Given the description of an element on the screen output the (x, y) to click on. 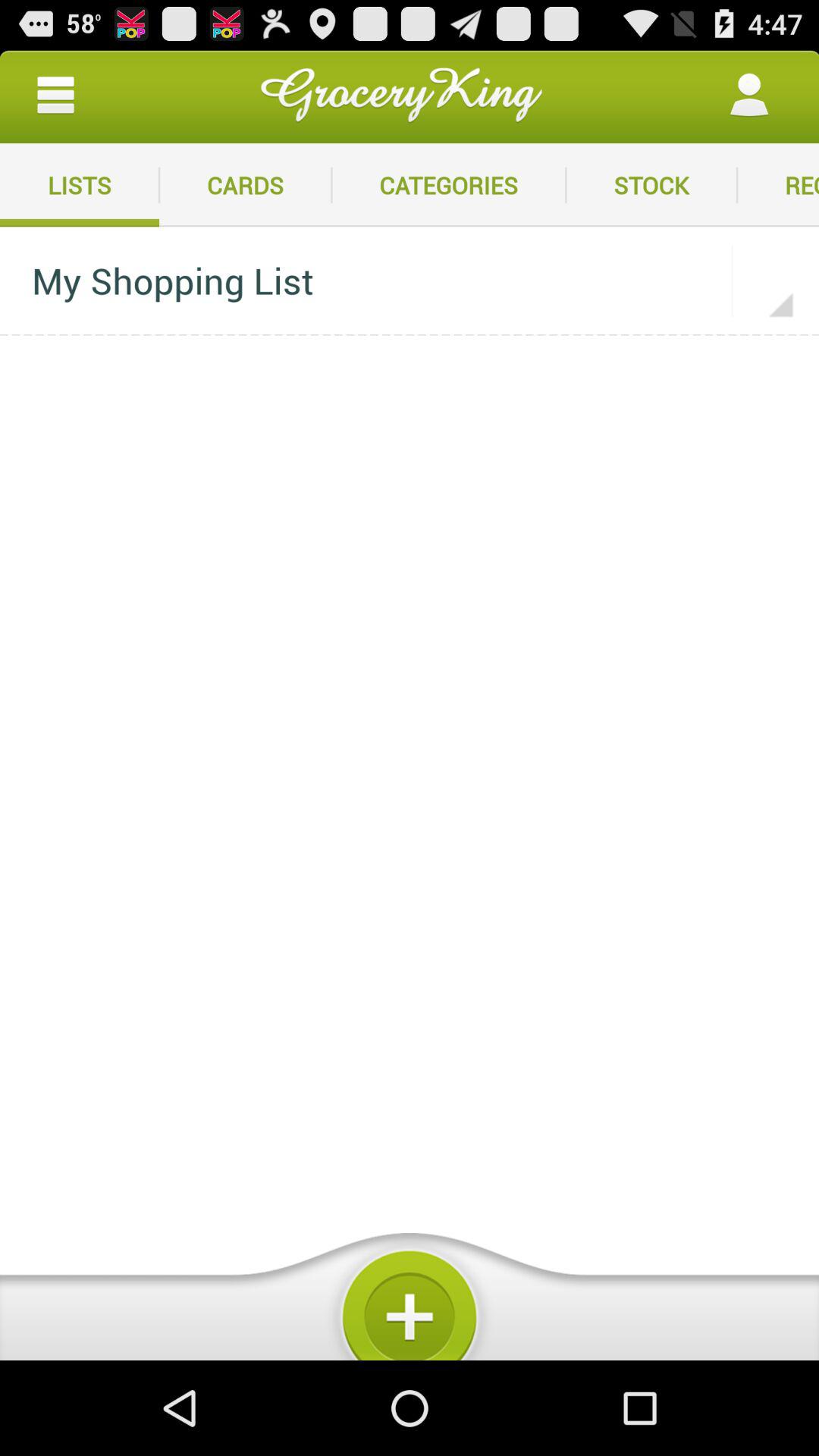
click on the menu icon (55, 94)
